Given the description of an element on the screen output the (x, y) to click on. 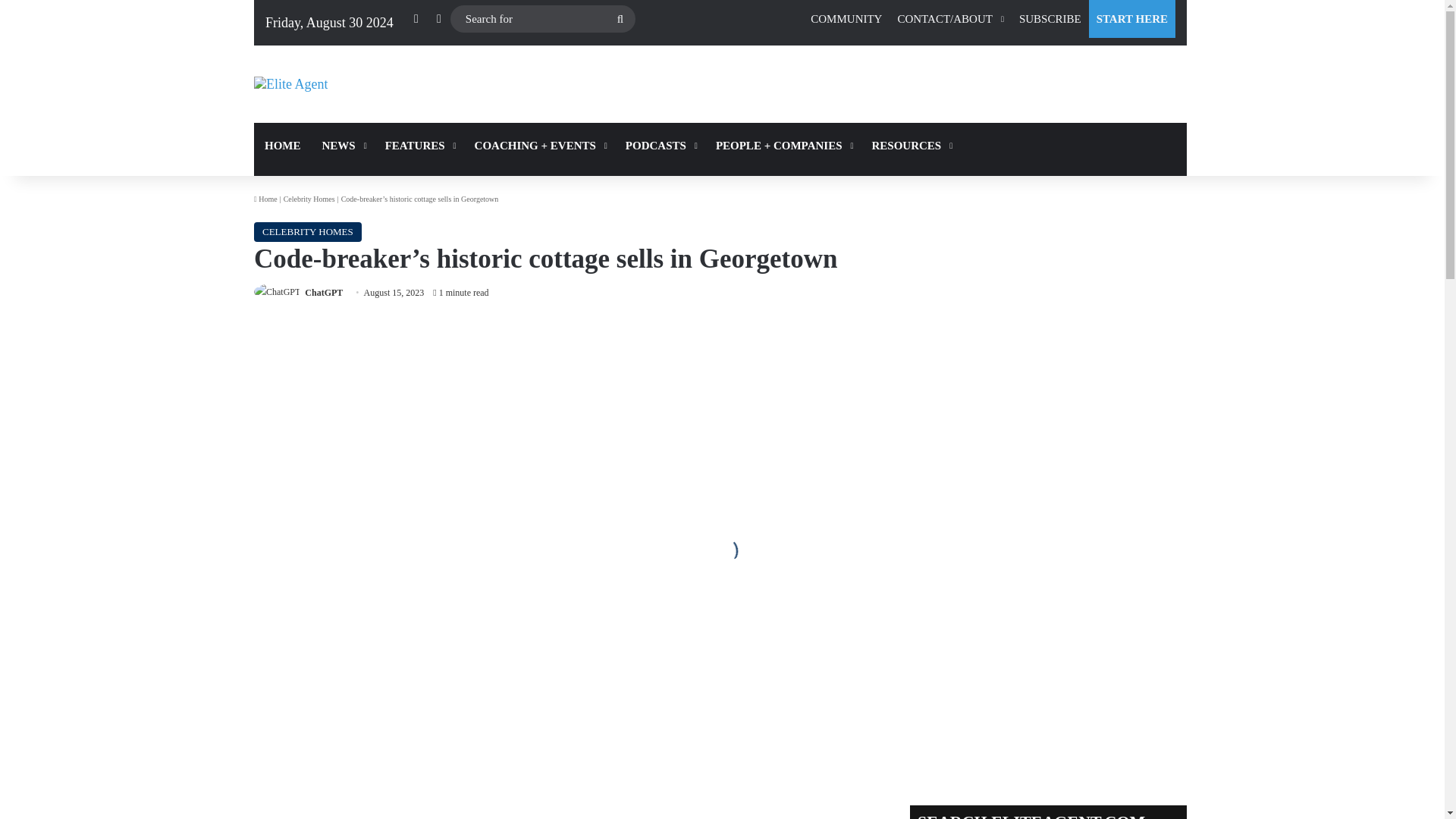
NEWS (342, 145)
ChatGPT (323, 292)
COMMUNITY (846, 18)
SUBSCRIBE (1050, 18)
Elite Agent (290, 84)
Search for (541, 18)
FEATURES (419, 145)
HOME (282, 145)
START HERE (1131, 18)
